Given the description of an element on the screen output the (x, y) to click on. 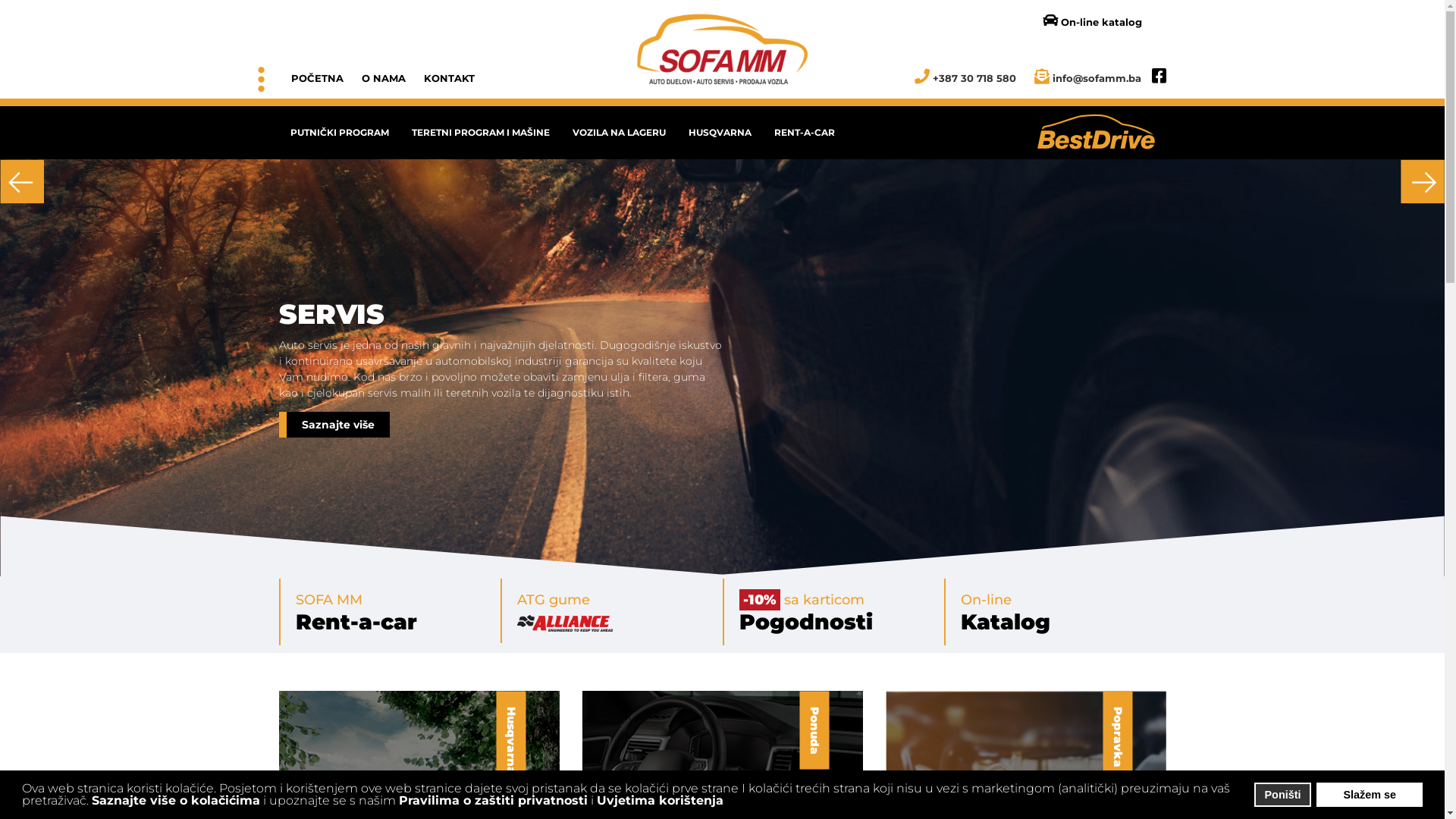
VOZILA NA LAGERU Element type: text (619, 132)
Alliance tire group Element type: text (463, 435)
On-line katalog Element type: text (1083, 21)
Husqvarna Element type: text (593, 435)
Rent-a-car Element type: text (356, 621)
HUSQVARNA Element type: text (719, 132)
Veriga lanci Element type: text (330, 435)
Katalog Element type: text (1005, 621)
Pogodnosti Element type: text (805, 621)
O NAMA Element type: text (382, 78)
KONTAKT Element type: text (448, 78)
RENT-A-CAR Element type: text (804, 132)
ATG gume Element type: text (553, 599)
